Given the description of an element on the screen output the (x, y) to click on. 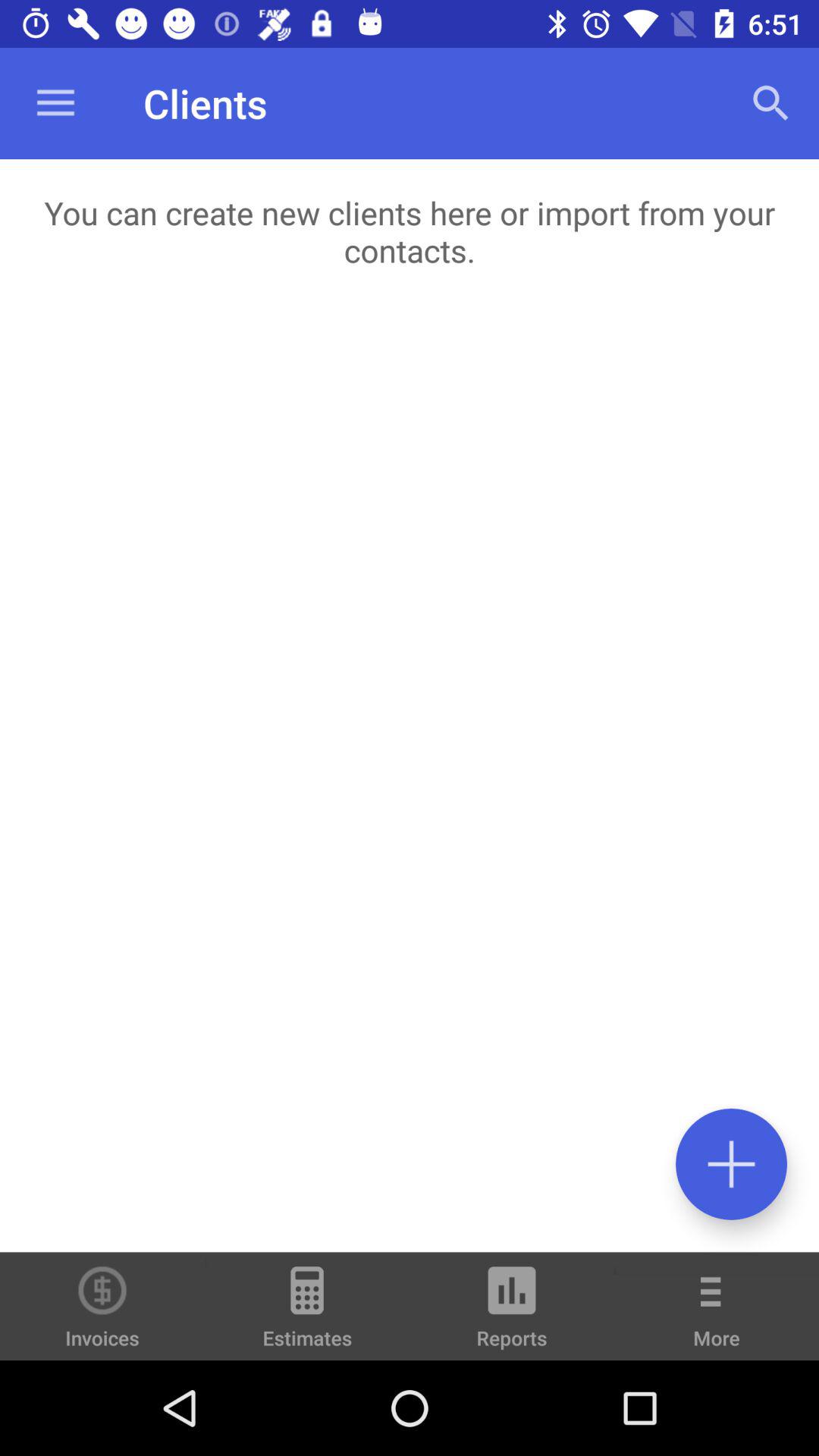
press icon at the top right corner (771, 103)
